Given the description of an element on the screen output the (x, y) to click on. 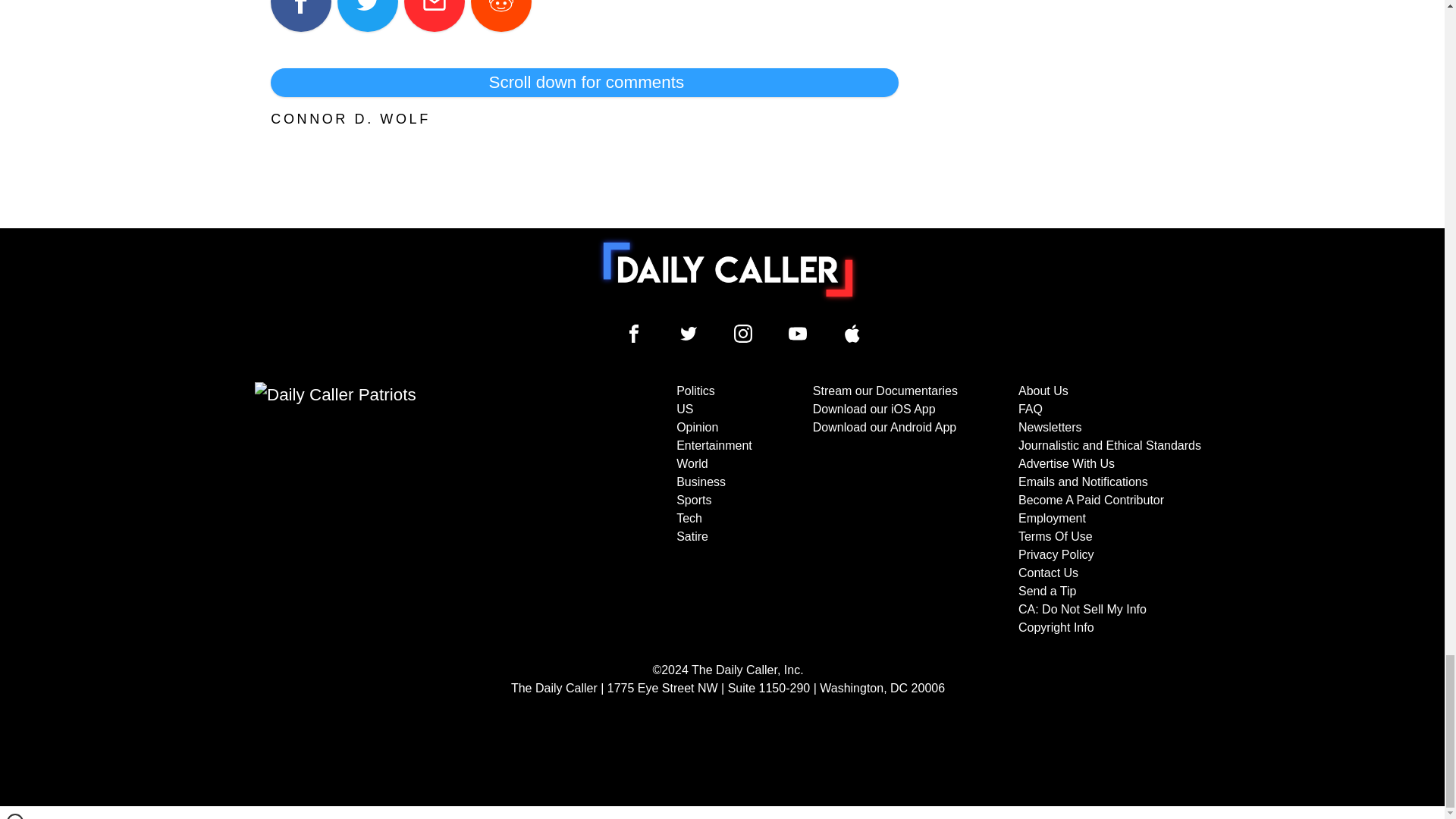
Daily Caller YouTube (797, 333)
To home page (727, 269)
Scroll down for comments (584, 82)
Daily Caller YouTube (852, 333)
Daily Caller Instagram (742, 333)
Daily Caller Facebook (633, 333)
Daily Caller Twitter (688, 333)
Subscribe to The Daily Caller (405, 509)
